Given the description of an element on the screen output the (x, y) to click on. 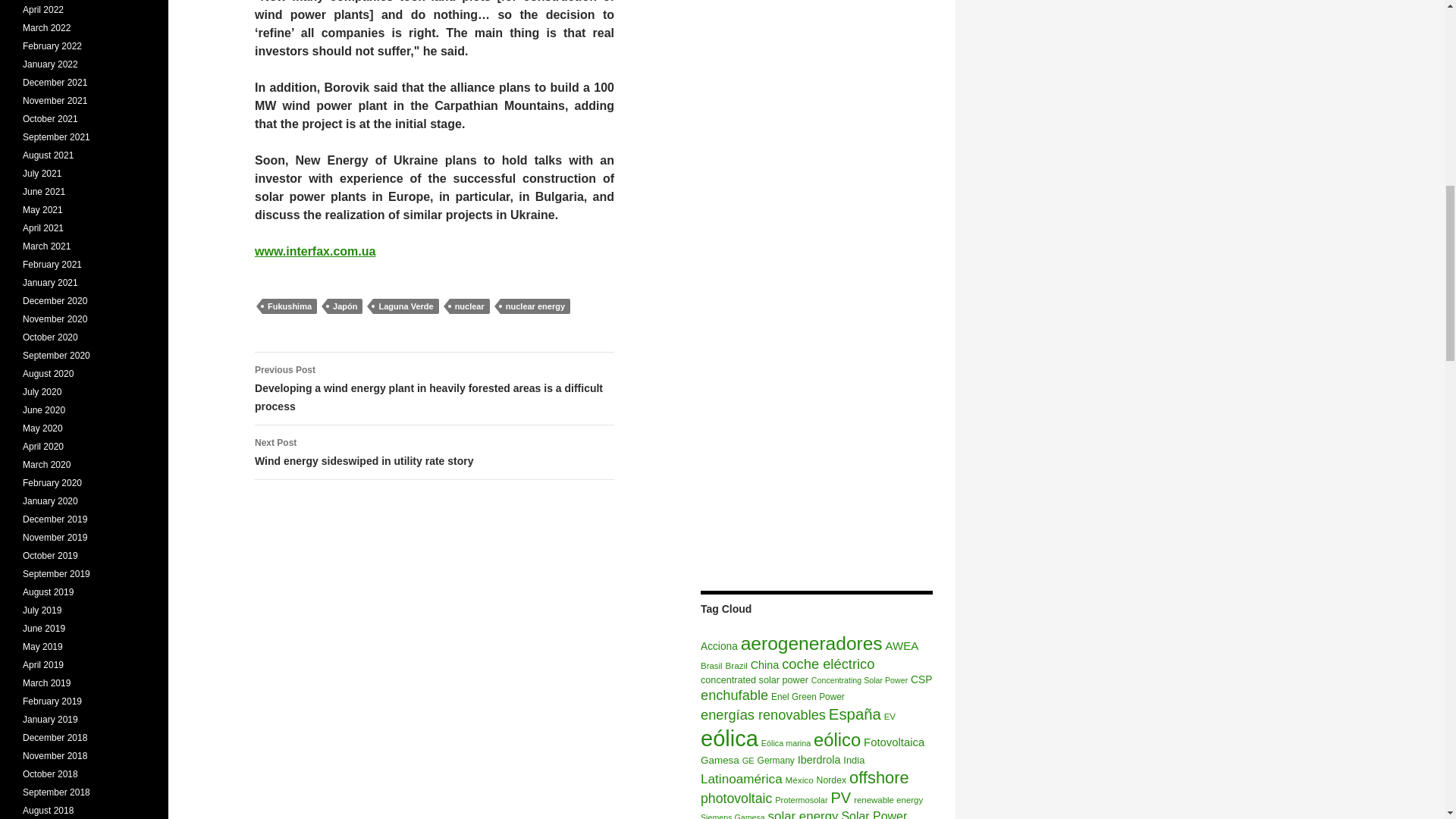
Brazil (434, 452)
Fukushima (736, 665)
Laguna Verde (289, 305)
AWEA (405, 305)
Acciona (901, 645)
nuclear (719, 645)
www.interfax.com.ua (469, 305)
Brasil (314, 250)
